Given the description of an element on the screen output the (x, y) to click on. 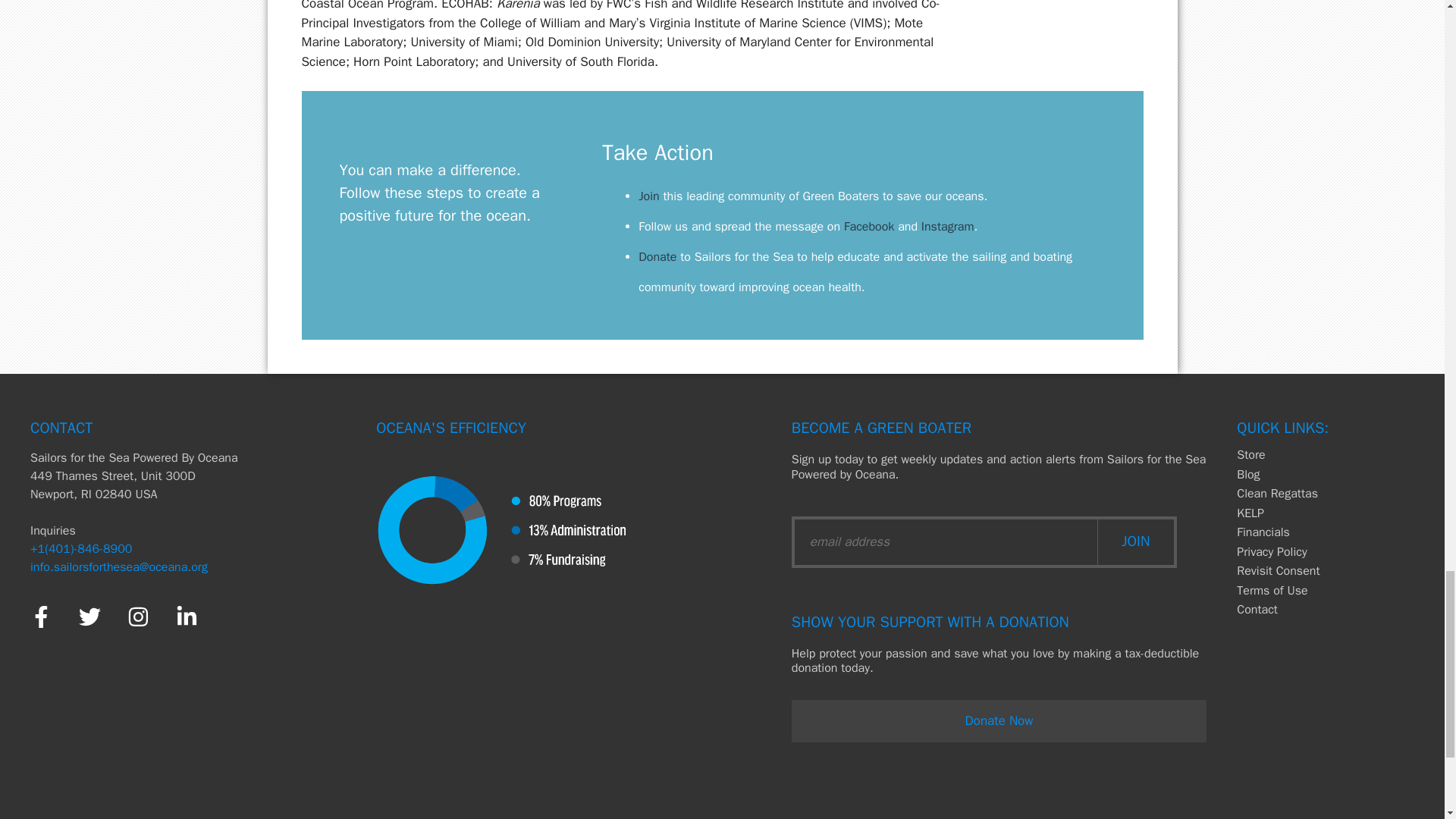
JOIN (1135, 541)
